Given the description of an element on the screen output the (x, y) to click on. 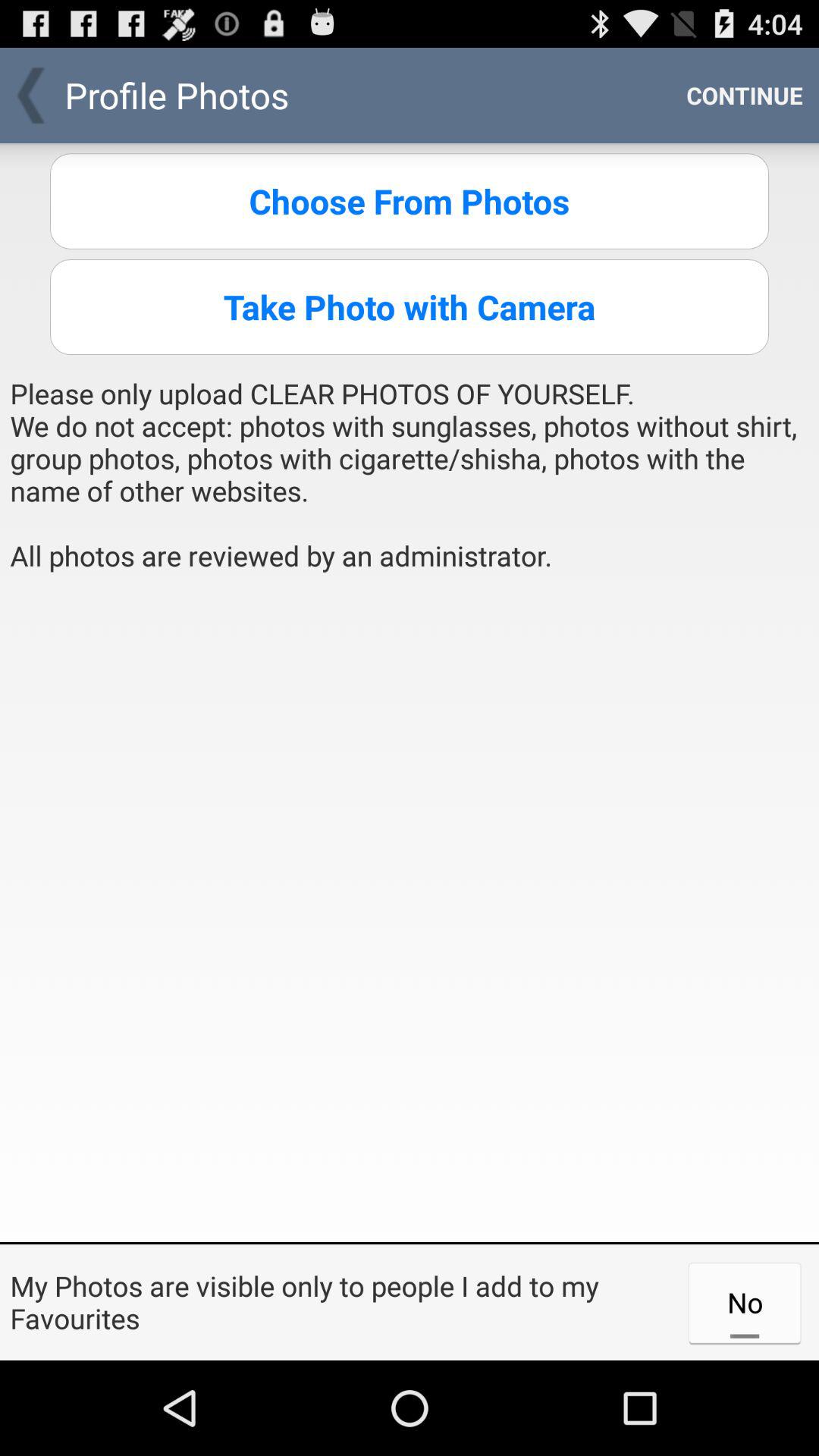
open item to the right of my photos are item (744, 1302)
